Given the description of an element on the screen output the (x, y) to click on. 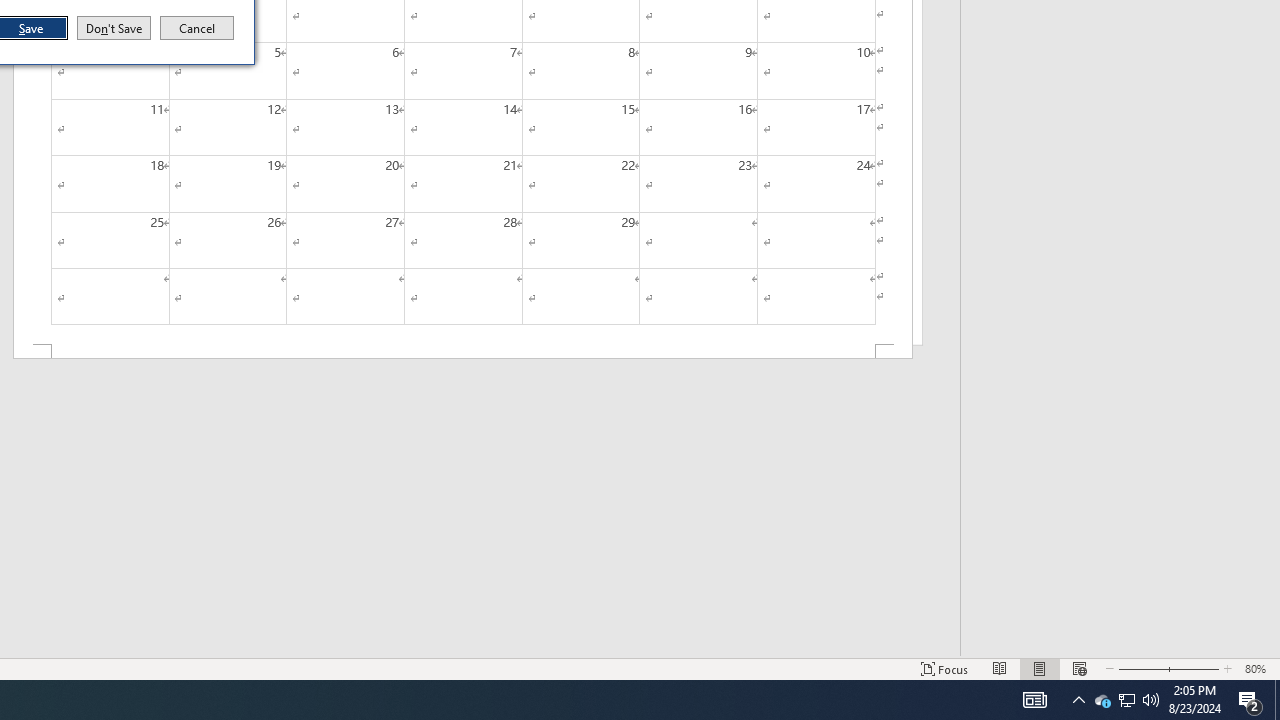
Action Center, 2 new notifications (1250, 699)
Don't Save (1102, 699)
Q2790: 100% (113, 27)
Show desktop (1151, 699)
Notification Chevron (1277, 699)
